Given the description of an element on the screen output the (x, y) to click on. 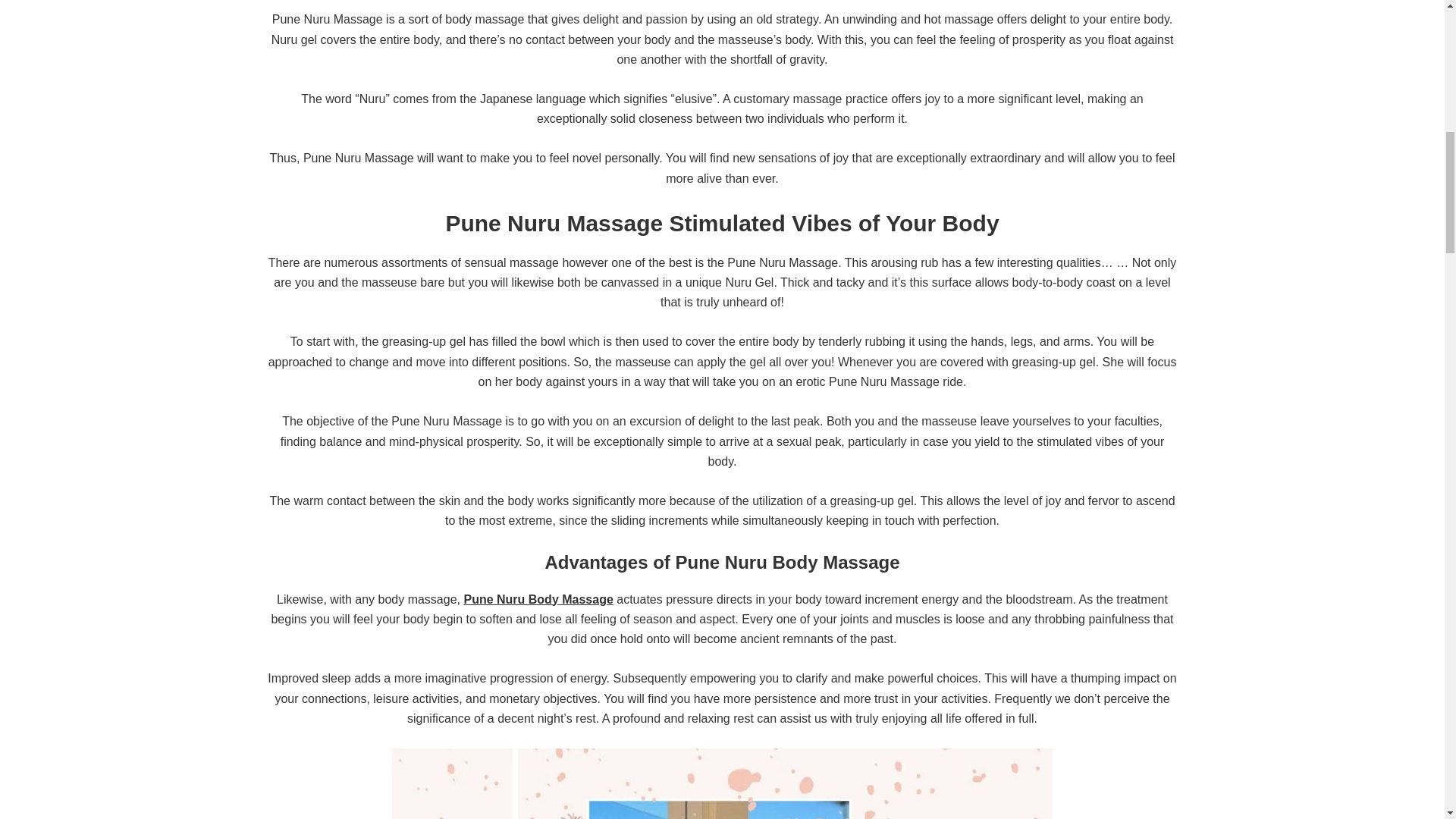
Pune Nuru Body Massage (537, 599)
